Given the description of an element on the screen output the (x, y) to click on. 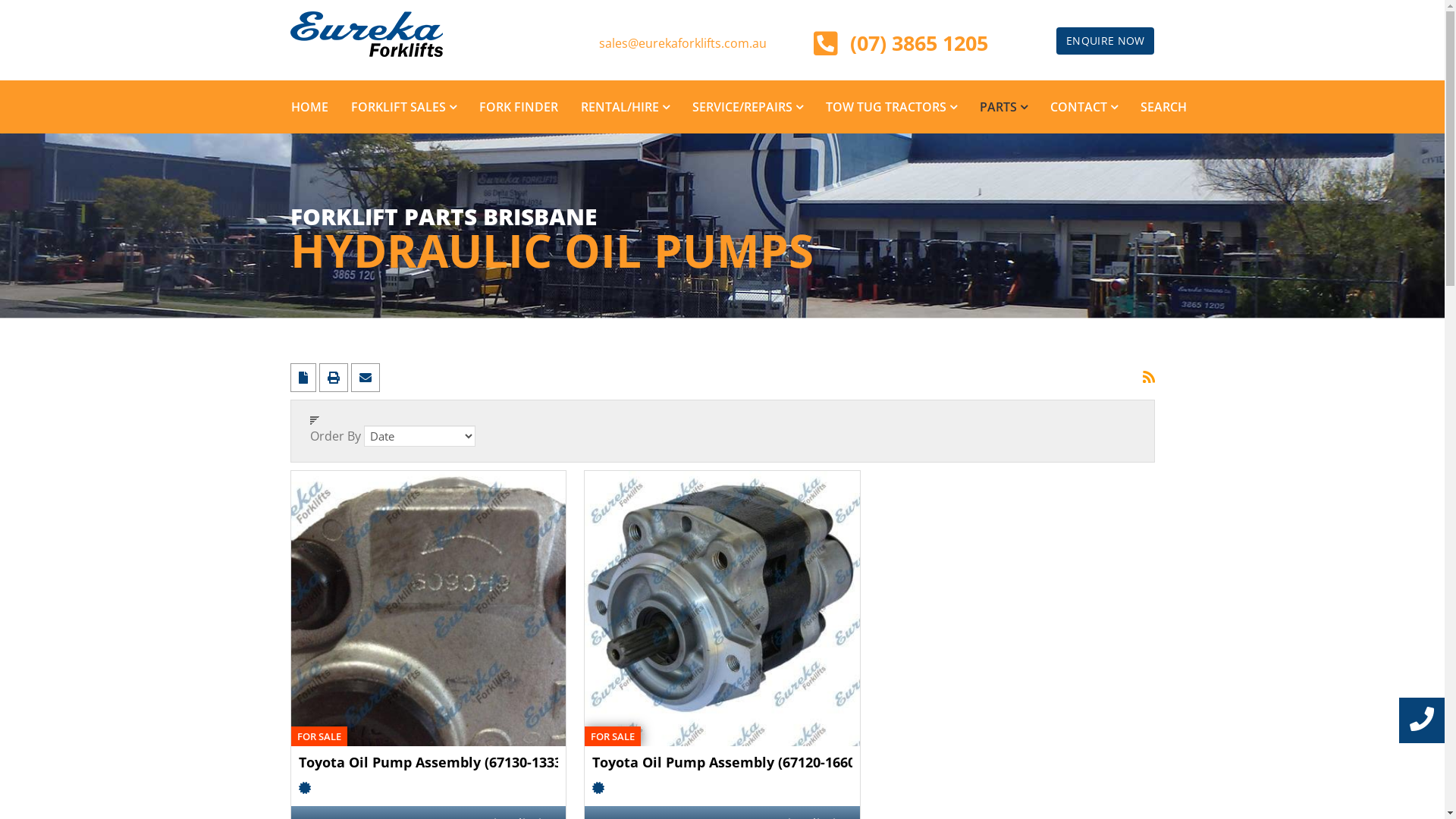
Print Element type: hover (334, 377)
E-mail Element type: hover (364, 377)
HOME Element type: text (308, 106)
Toyota Oil Pump Assembly (67130-13330-71) Element type: hover (428, 608)
Toyota Oil Pump Assembly (67120-16600-71A) Element type: text (722, 761)
Toyota Oil Pump Assembly (67130-13330-71) Element type: text (428, 761)
TOW TUG TRACTORS Element type: text (891, 106)
RENTAL/HIRE Element type: text (624, 106)
Toyota Oil Pump Assembly (67120-16600-71A) Element type: hover (721, 608)
Click to sort by this column. Element type: hover (469, 430)
PDF Element type: hover (303, 377)
(07) 3865 1205 Element type: text (919, 42)
CONTACT Element type: text (1083, 106)
Category RSS Element type: hover (1148, 372)
FORKLIFT SALES Element type: text (403, 106)
PARTS Element type: text (1002, 106)
SERVICE/REPAIRS Element type: text (747, 106)
SEARCH Element type: text (1162, 106)
sales@eurekaforklifts.com.au Element type: text (682, 42)
FORK FINDER Element type: text (517, 106)
ENQUIRE NOW Element type: text (1105, 40)
